Given the description of an element on the screen output the (x, y) to click on. 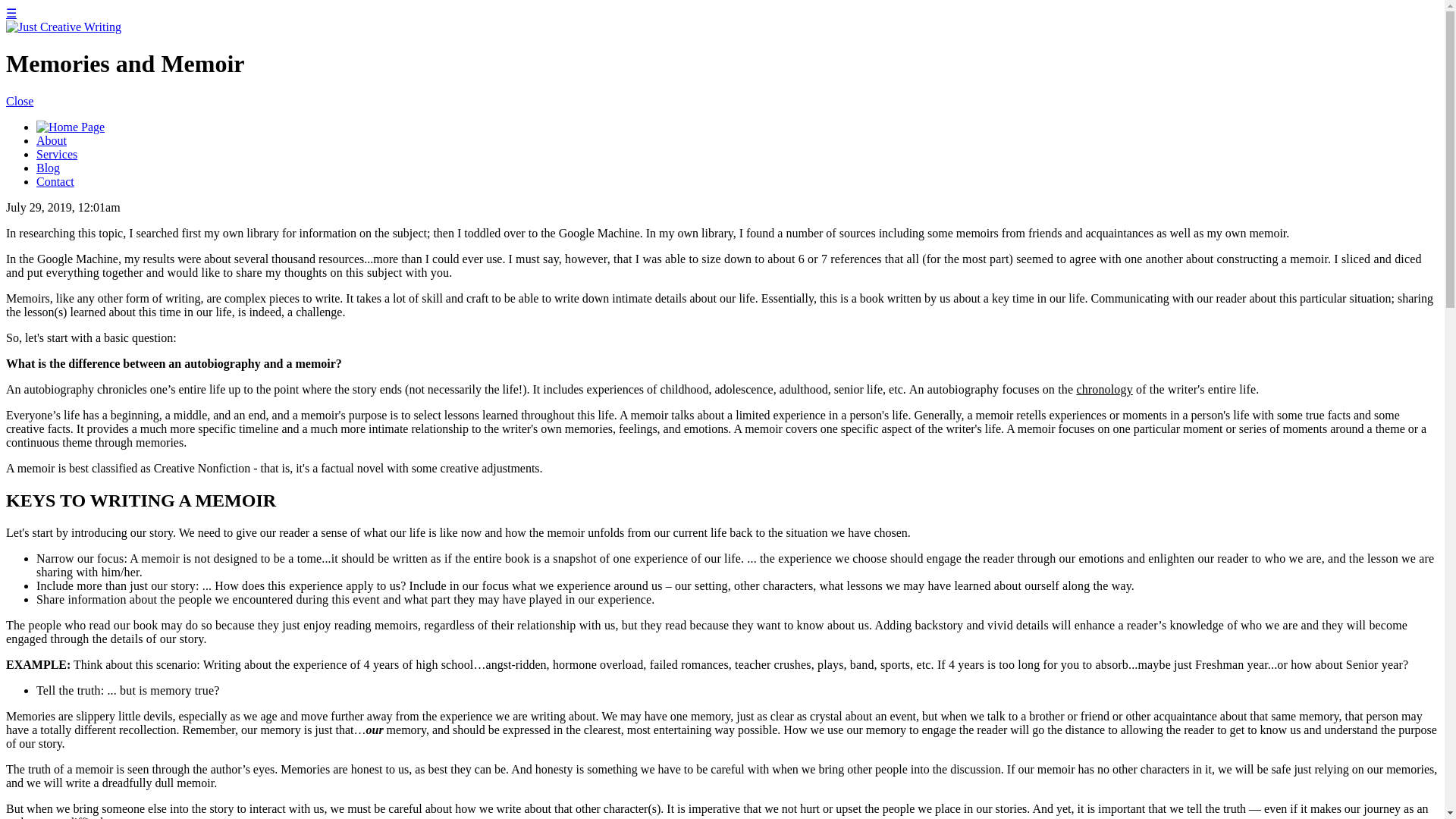
Contact (55, 181)
Blog (47, 167)
About (51, 140)
Services (56, 154)
Close (19, 101)
